Given the description of an element on the screen output the (x, y) to click on. 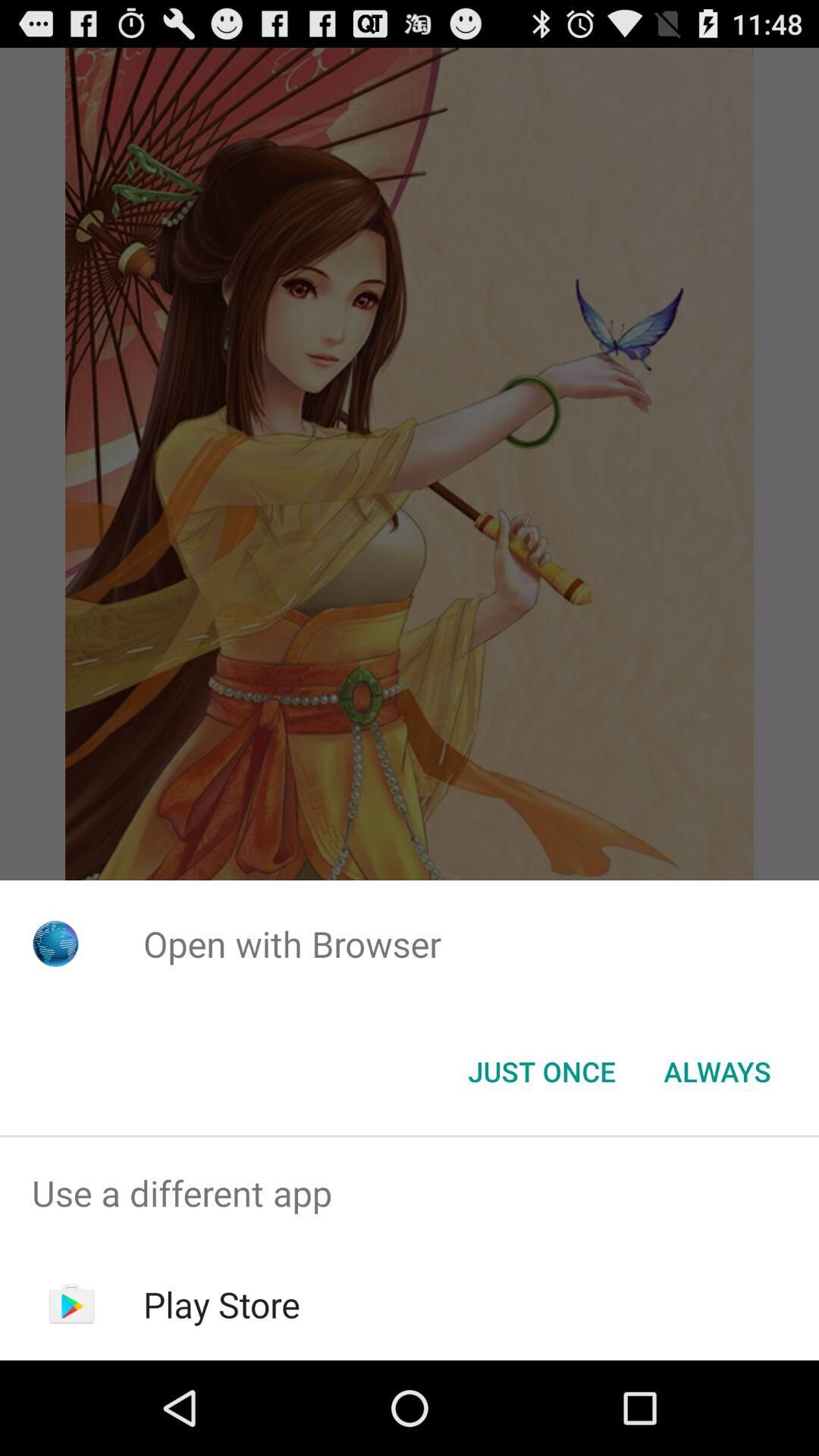
open icon next to the just once (717, 1071)
